Given the description of an element on the screen output the (x, y) to click on. 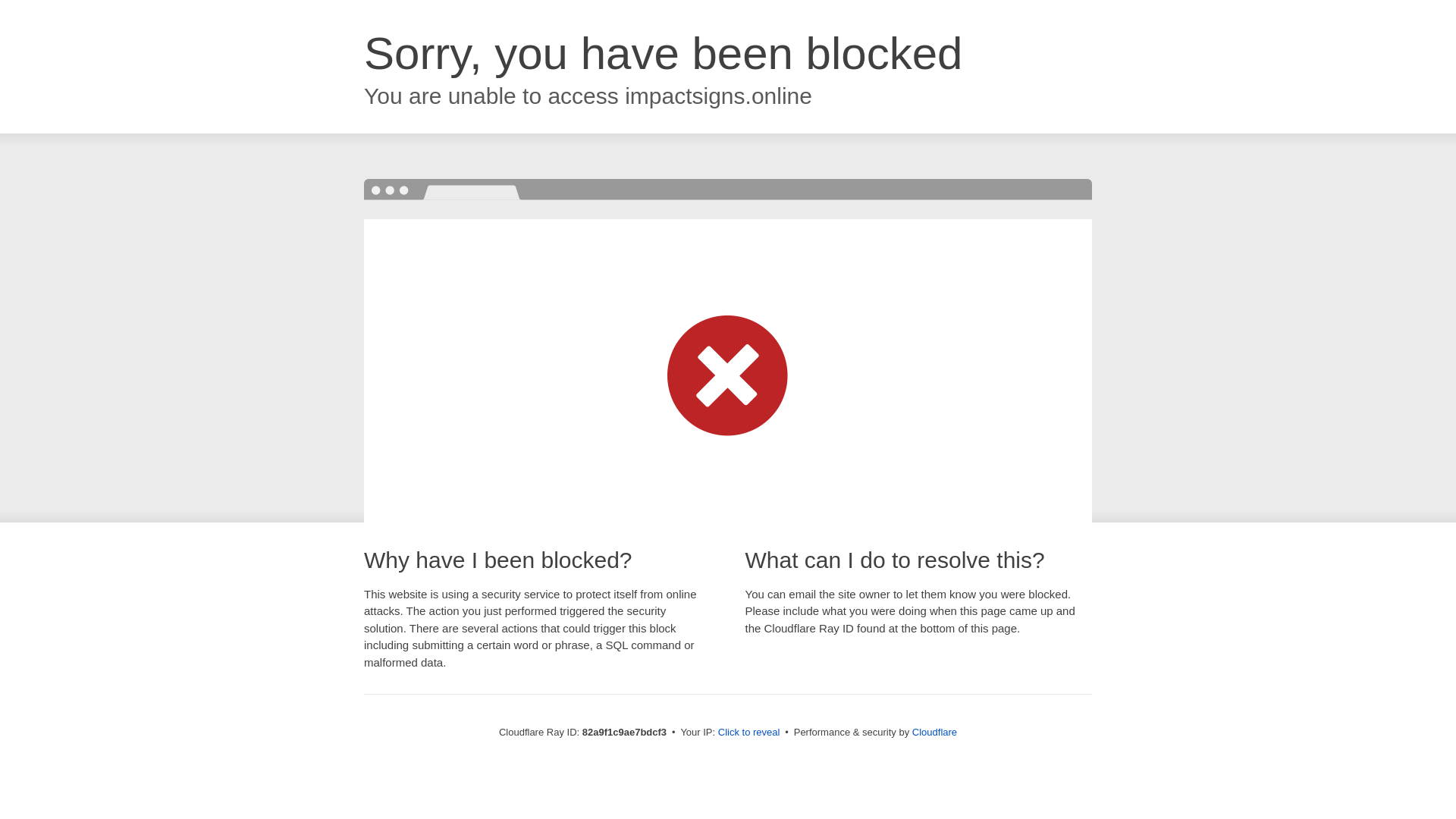
Click to reveal Element type: text (749, 732)
Cloudflare Element type: text (934, 731)
